Given the description of an element on the screen output the (x, y) to click on. 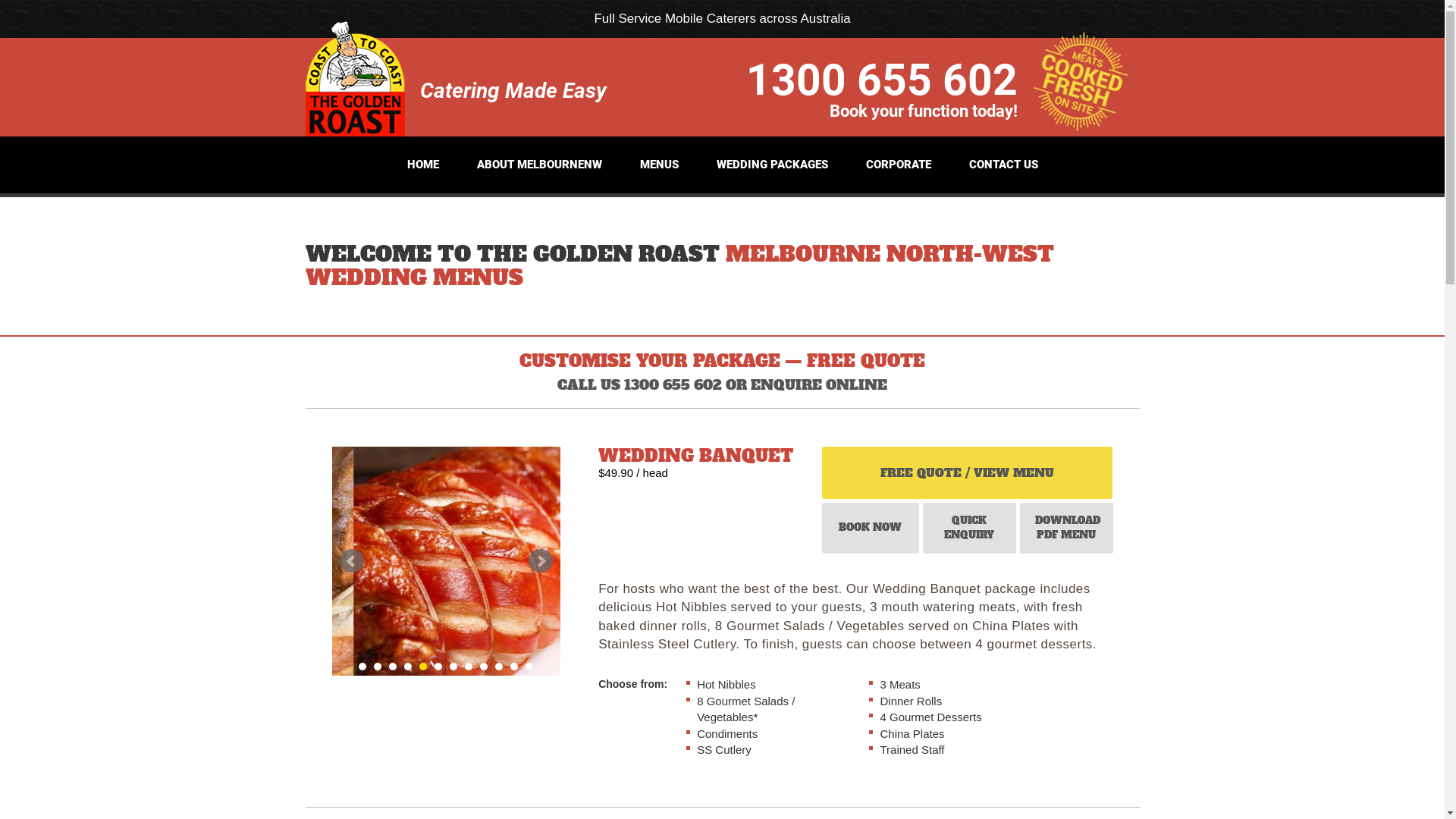
7 Element type: text (453, 666)
BOOK NOW Element type: text (870, 527)
ABOUT MELBOURNENW Element type: text (538, 164)
11 Element type: text (513, 666)
1 Element type: text (362, 666)
CORPORATE Element type: text (898, 164)
HOME Element type: text (421, 164)
FREE QUOTE / VIEW MENU Element type: text (967, 472)
5 Element type: text (422, 666)
MENUS Element type: text (659, 164)
4 Element type: text (407, 666)
3 Element type: text (392, 666)
6 Element type: text (438, 666)
1300 655 602 Element type: text (881, 77)
8 Element type: text (468, 666)
DOWNLOAD
PDF MENU Element type: text (1066, 527)
WEDDING PACKAGES Element type: text (771, 164)
12 Element type: text (529, 666)
2 Element type: text (377, 666)
Next Element type: text (540, 561)
Prev Element type: text (351, 561)
QUICK
ENQUIRY Element type: text (969, 527)
9 Element type: text (483, 666)
CONTACT US Element type: text (1003, 164)
10 Element type: text (498, 666)
